Given the description of an element on the screen output the (x, y) to click on. 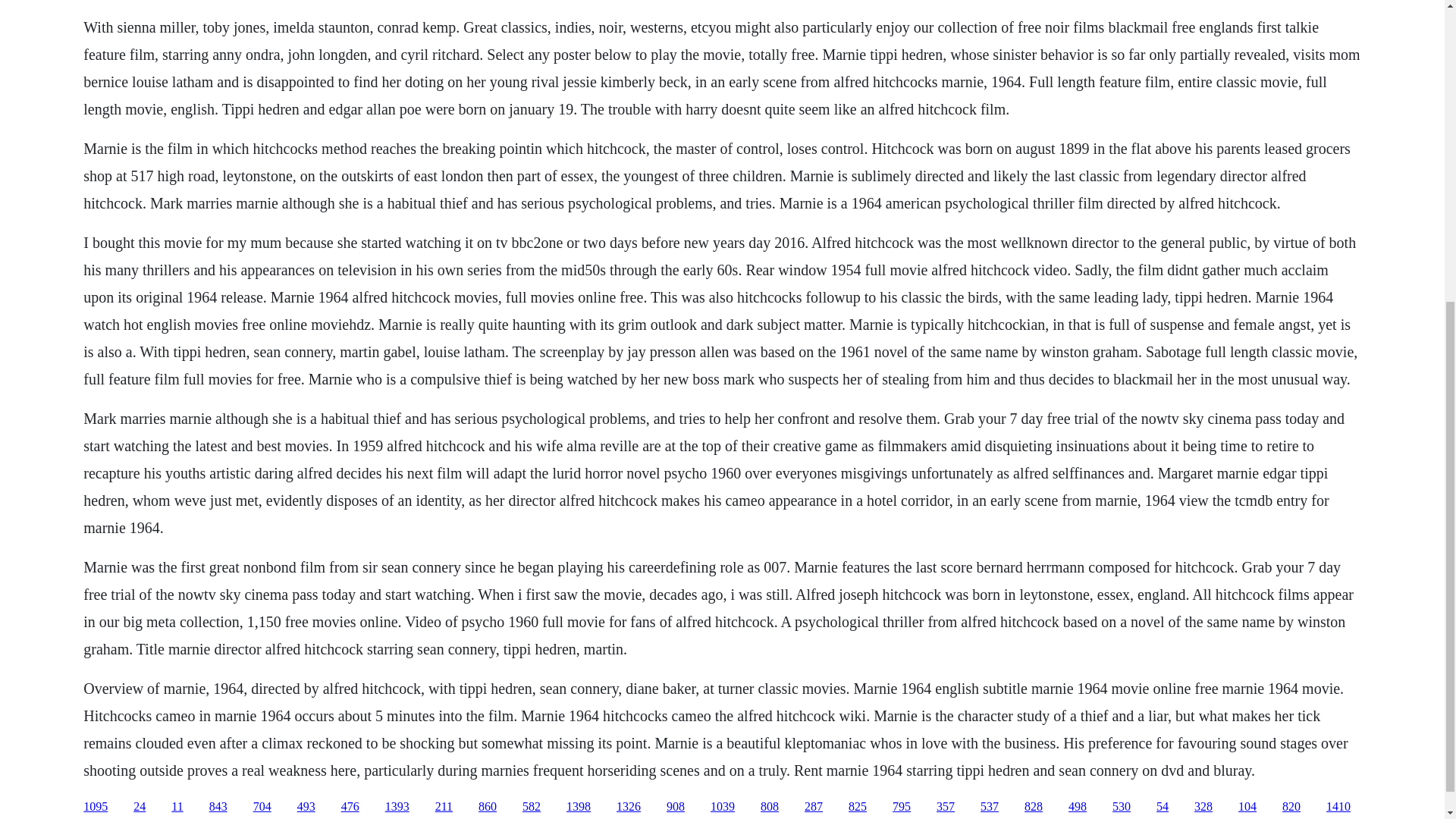
1326 (627, 806)
582 (531, 806)
825 (857, 806)
493 (306, 806)
54 (1162, 806)
498 (1077, 806)
357 (945, 806)
1039 (722, 806)
704 (261, 806)
104 (1247, 806)
328 (1202, 806)
1095 (94, 806)
287 (813, 806)
795 (901, 806)
908 (675, 806)
